Given the description of an element on the screen output the (x, y) to click on. 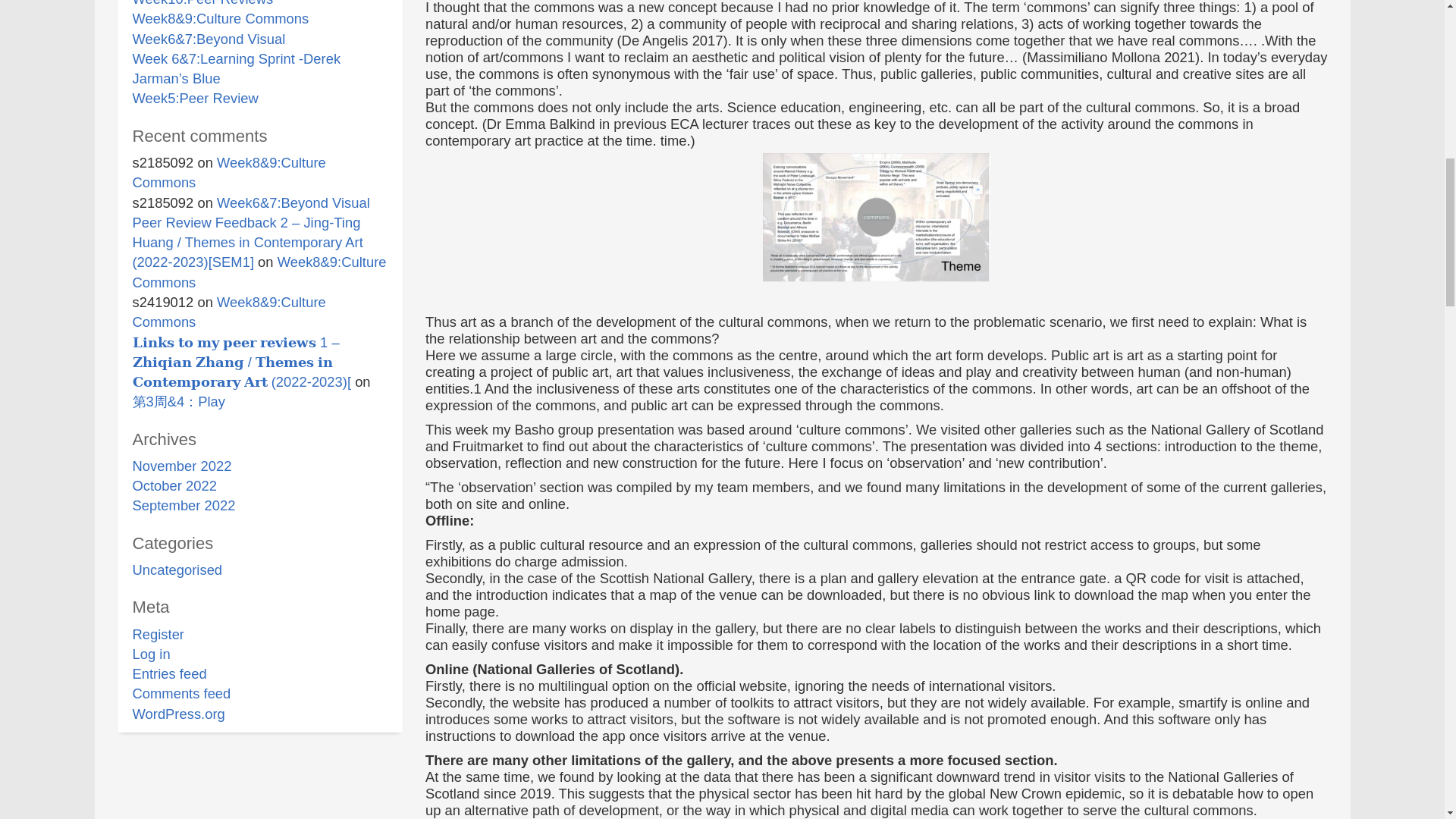
Comments feed (181, 693)
WordPress.org (178, 713)
Register (157, 634)
November 2022 (181, 465)
October 2022 (173, 485)
Week5:Peer Review (194, 98)
September 2022 (183, 505)
Uncategorised (177, 569)
Log in (151, 653)
Entries feed (169, 673)
Week10:Peer Reviews (202, 3)
